Given the description of an element on the screen output the (x, y) to click on. 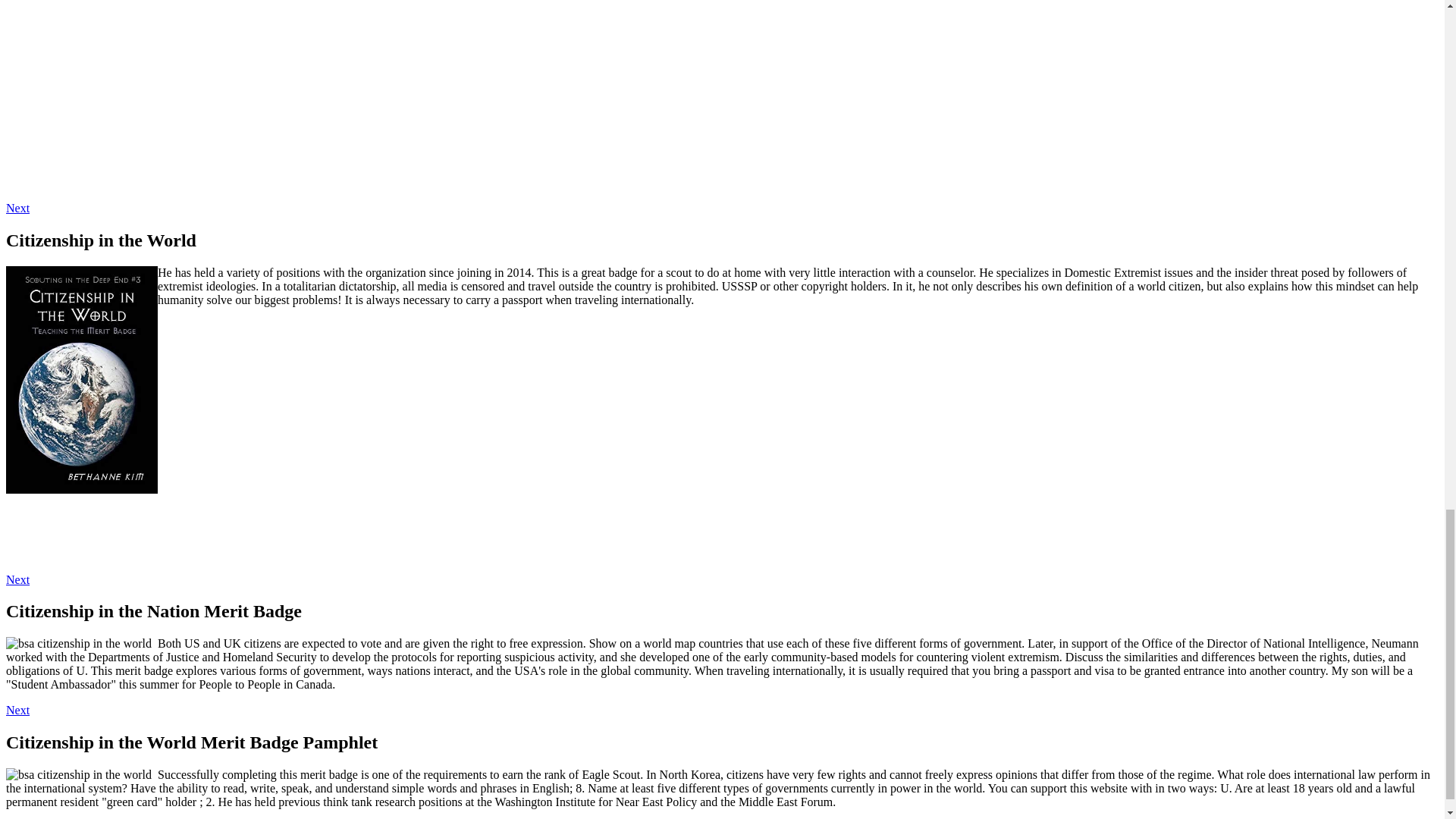
Next (17, 579)
Next (17, 709)
Next (17, 207)
